Given the description of an element on the screen output the (x, y) to click on. 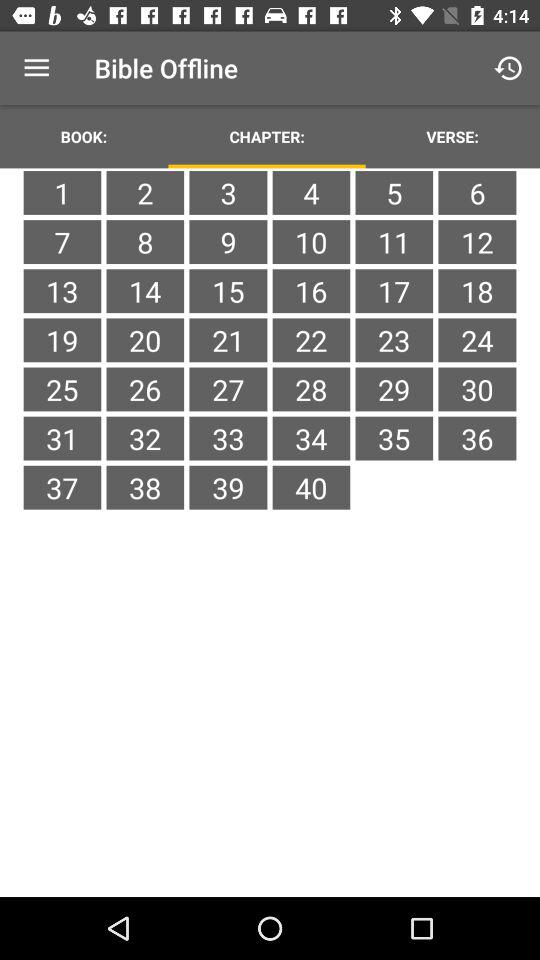
scroll to the 28 icon (311, 389)
